Given the description of an element on the screen output the (x, y) to click on. 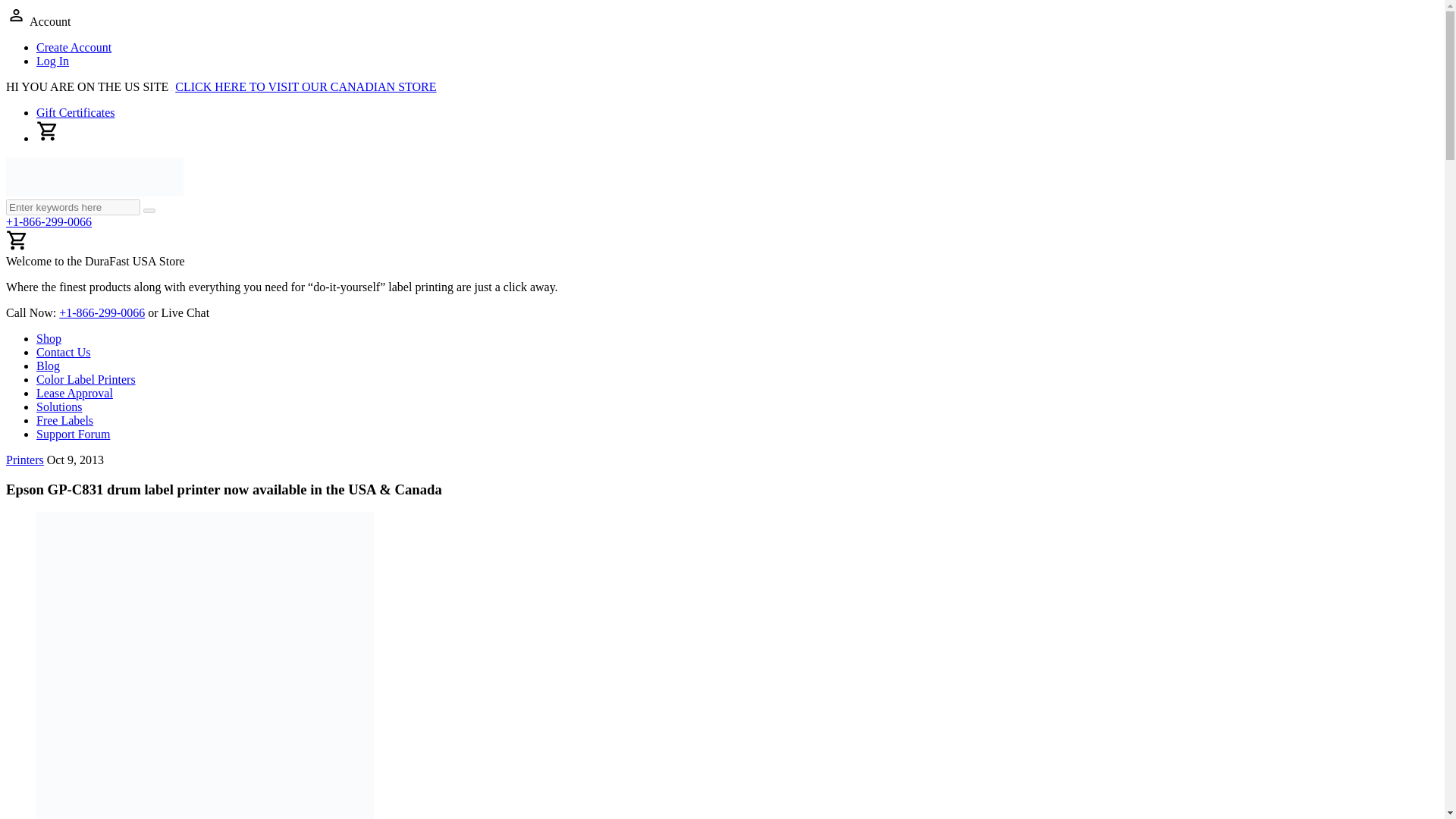
CLICK HERE TO VISIT OUR CANADIAN STORE (304, 86)
Shop (48, 338)
Blog (47, 365)
Contact Us (63, 351)
Create Account (74, 47)
Gift Certificates (75, 112)
Log In (52, 60)
Color Label Printers (85, 379)
Lease Approval (74, 392)
Solutions (58, 406)
Printers (24, 459)
Free Labels (64, 420)
Support Forum (73, 433)
